Given the description of an element on the screen output the (x, y) to click on. 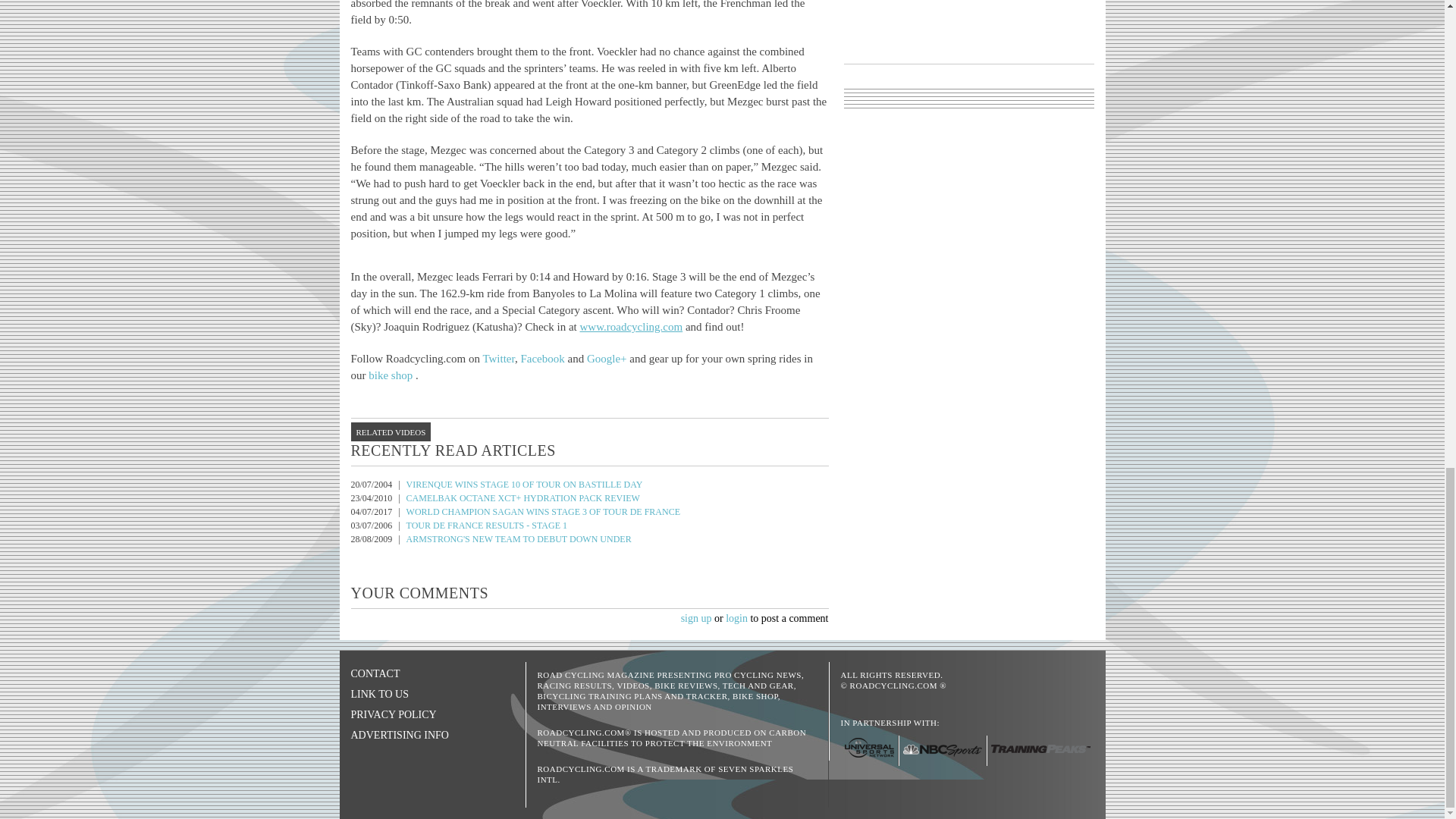
VIRENQUE WINS STAGE 10 OF TOUR ON BASTILLE DAY (524, 484)
sign up (696, 618)
login (736, 618)
Twitter (498, 358)
ARMSTRONG'S NEW TEAM TO DEBUT DOWN UNDER (518, 538)
Facebook (541, 358)
www.roadcycling.com (630, 326)
TOUR DE FRANCE RESULTS - STAGE 1 (486, 525)
bike shop (391, 375)
RELATED VIDEOS (390, 431)
WORLD CHAMPION SAGAN WINS STAGE 3 OF TOUR DE FRANCE (542, 511)
